Given the description of an element on the screen output the (x, y) to click on. 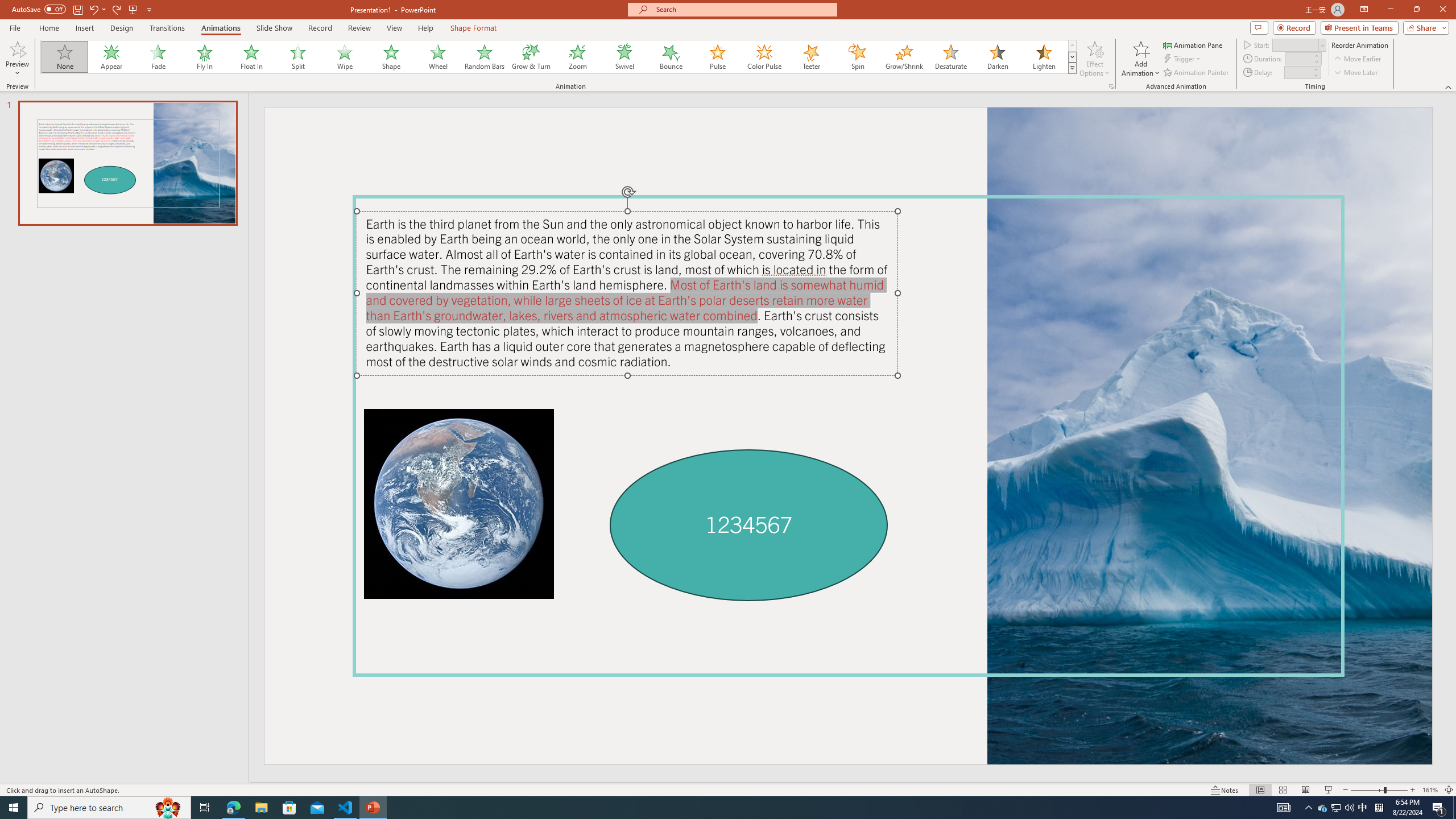
Float In (251, 56)
Darken (997, 56)
Desaturate (950, 56)
Animation Duration (1298, 58)
Teeter (810, 56)
